Given the description of an element on the screen output the (x, y) to click on. 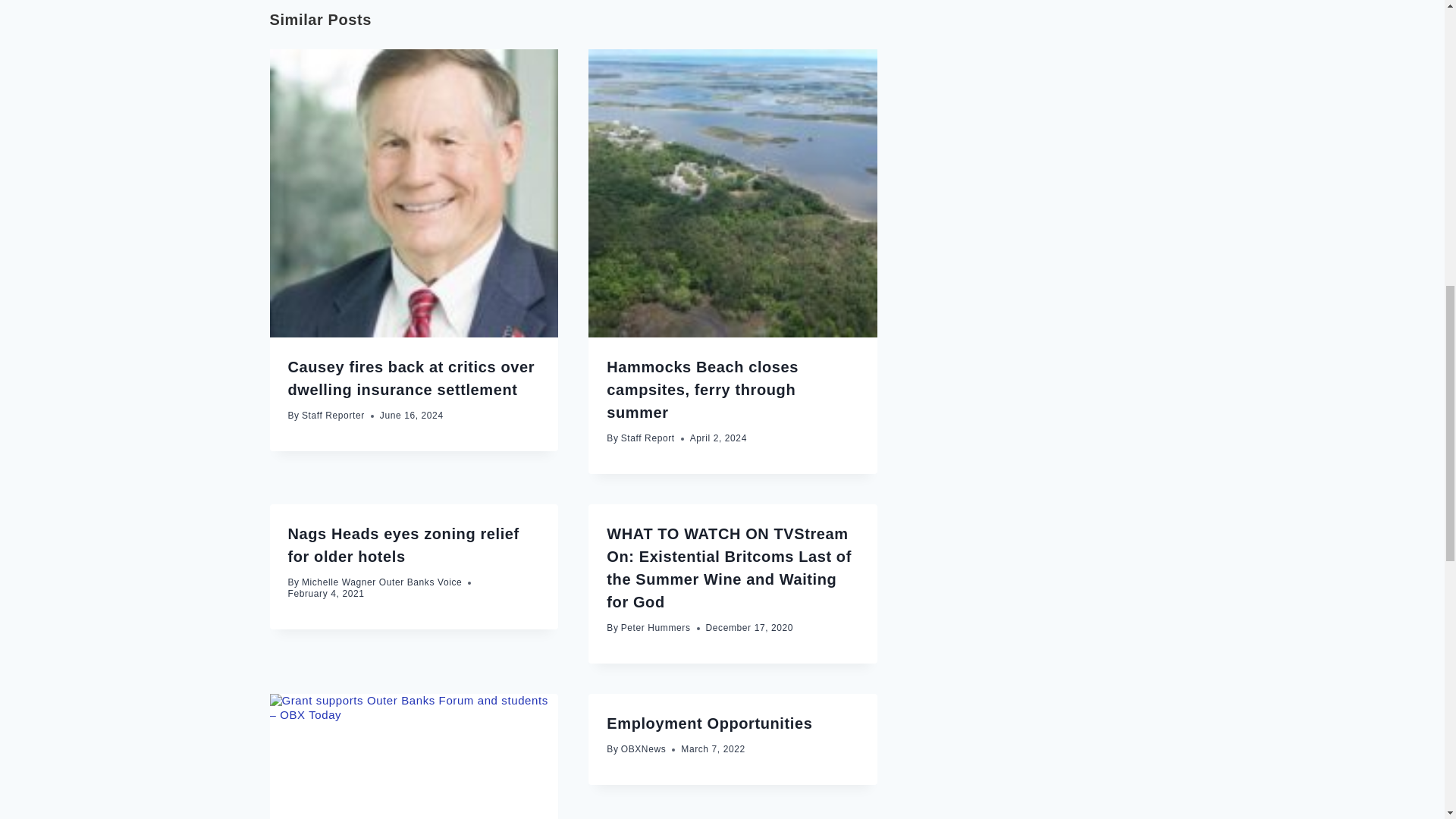
Nags Heads eyes zoning relief for older hotels (403, 545)
Staff Report (648, 438)
Hammocks Beach closes campsites, ferry through summer (702, 389)
Staff Reporter (333, 415)
